Given the description of an element on the screen output the (x, y) to click on. 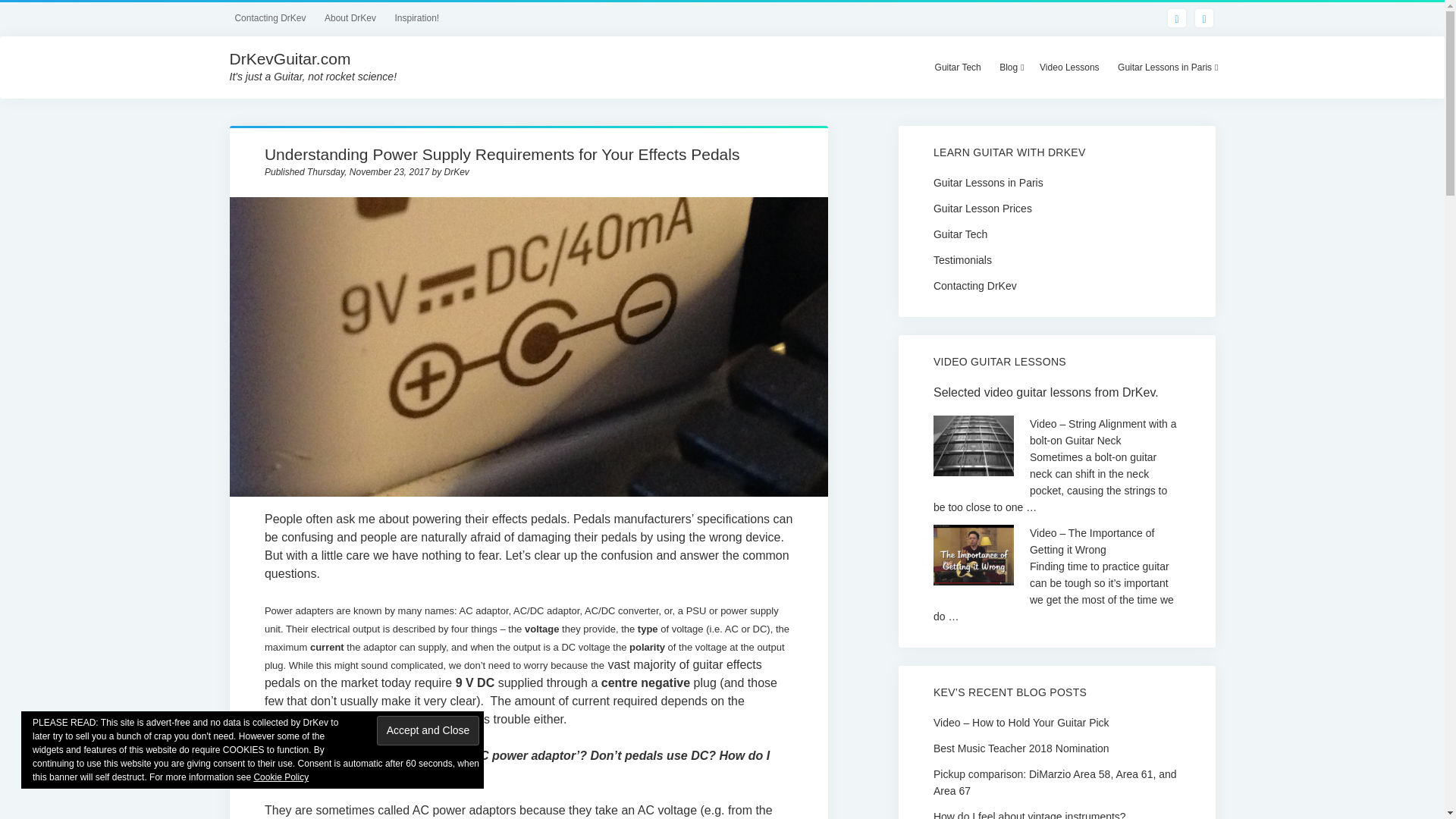
Video Lessons and more! (1069, 67)
Guitar Tech (958, 67)
DrKevGuitar.com (289, 58)
Video Lessons (1069, 67)
Blog (1009, 67)
Accept and Close (428, 730)
Inspiration! (416, 18)
Contacting DrKev (272, 18)
Guitar Lessons in Paris (1166, 67)
About DrKev (350, 18)
